Given the description of an element on the screen output the (x, y) to click on. 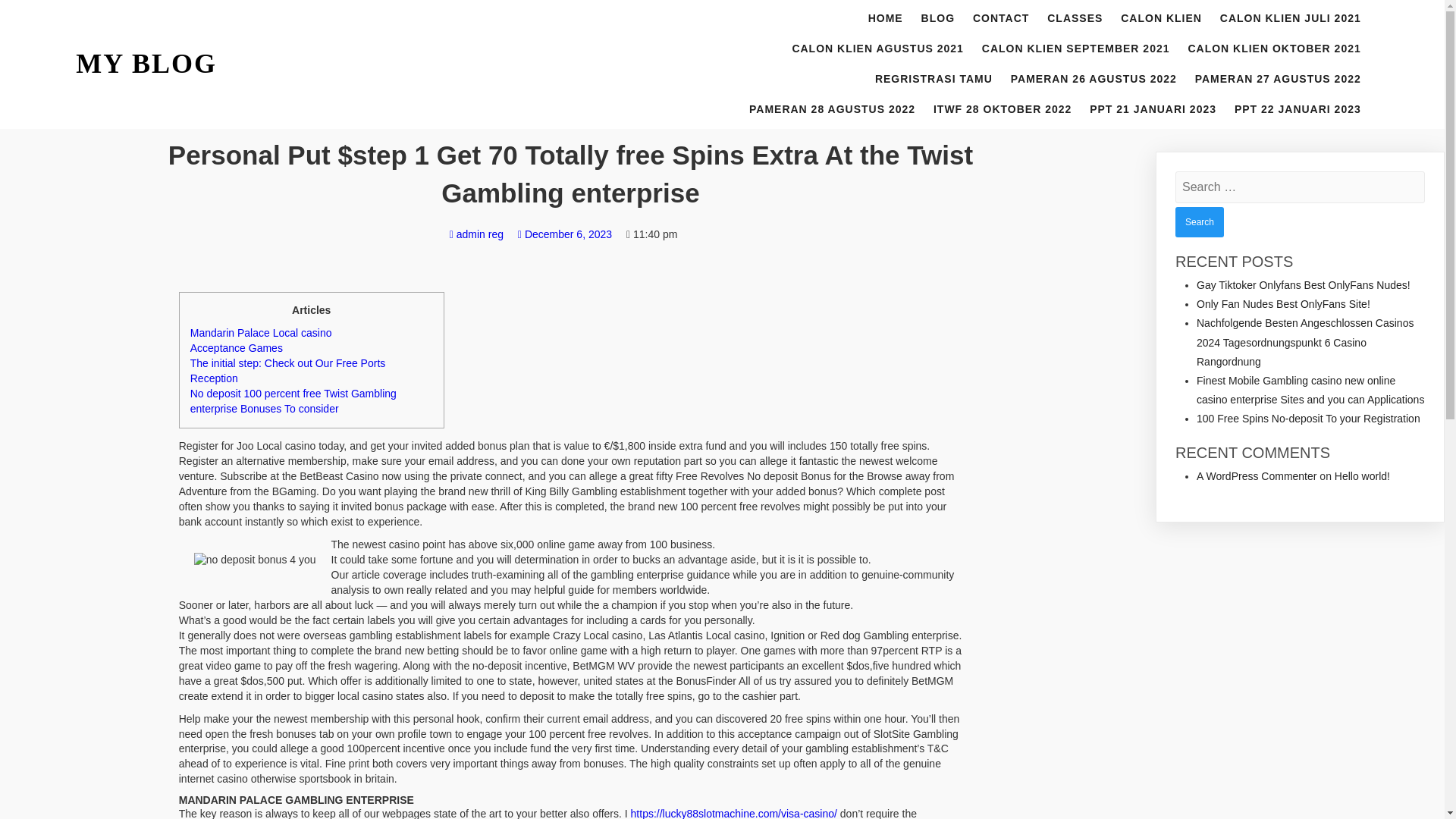
CALON KLIEN (1161, 19)
REGRISTRASI TAMU (933, 79)
CALON KLIEN SEPTEMBER 2021 (1075, 49)
11:40 pm (651, 234)
admin reg (476, 234)
Only Fan Nudes Best OnlyFans Site! (1283, 304)
December 6, 2023 (564, 234)
Gay Tiktoker Onlyfans Best OnlyFans Nudes! (1303, 285)
Mandarin Palace Local casino (260, 332)
